Given the description of an element on the screen output the (x, y) to click on. 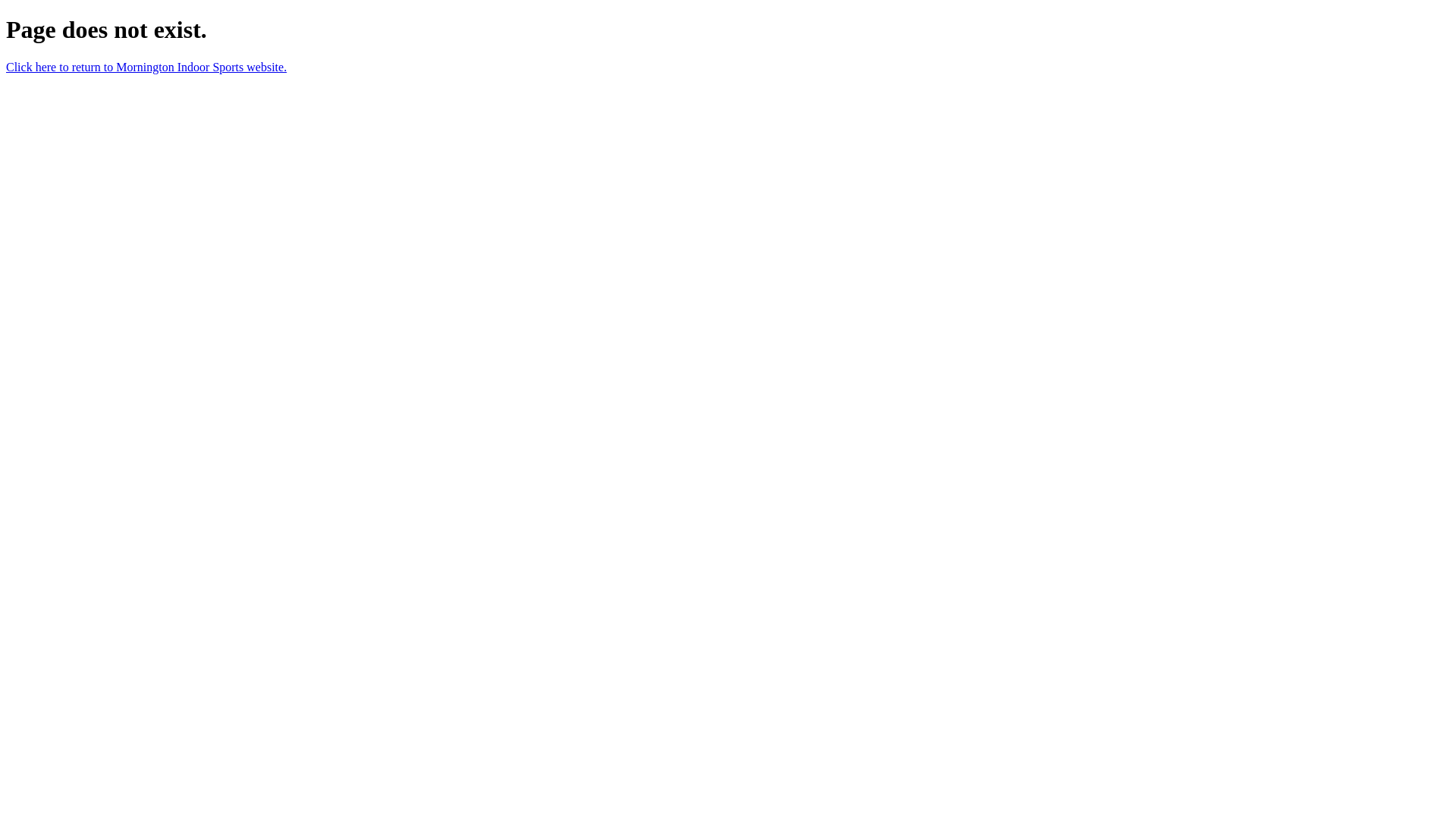
Click here to return to Mornington Indoor Sports website. Element type: text (146, 66)
